Given the description of an element on the screen output the (x, y) to click on. 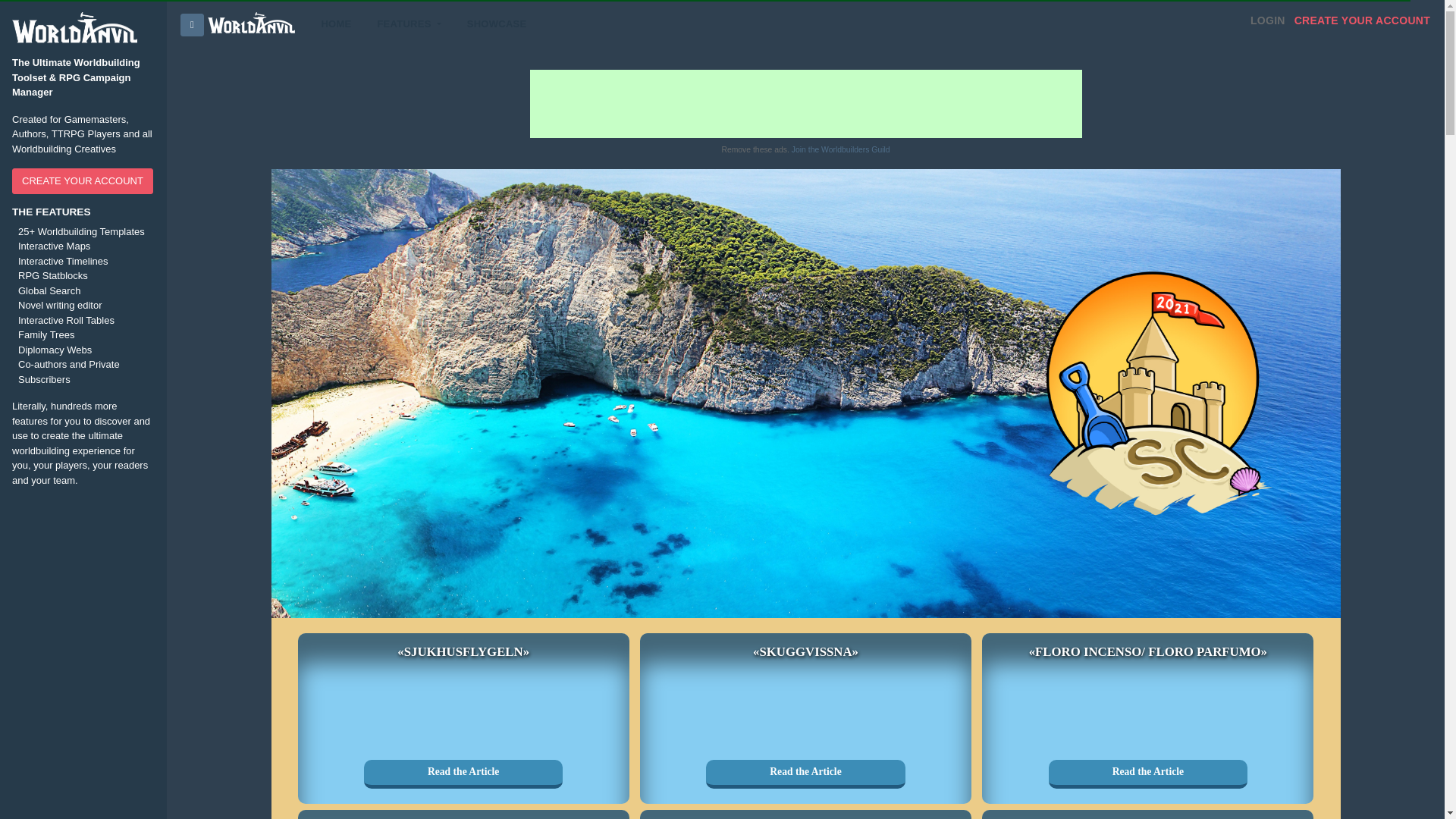
FEATURES (408, 23)
CREATE YOUR ACCOUNT (81, 181)
Join the Worldbuilders Guild (840, 149)
SHOWCASE (497, 23)
CREATE YOUR ACCOUNT (1362, 20)
LOGIN (1268, 20)
